Given the description of an element on the screen output the (x, y) to click on. 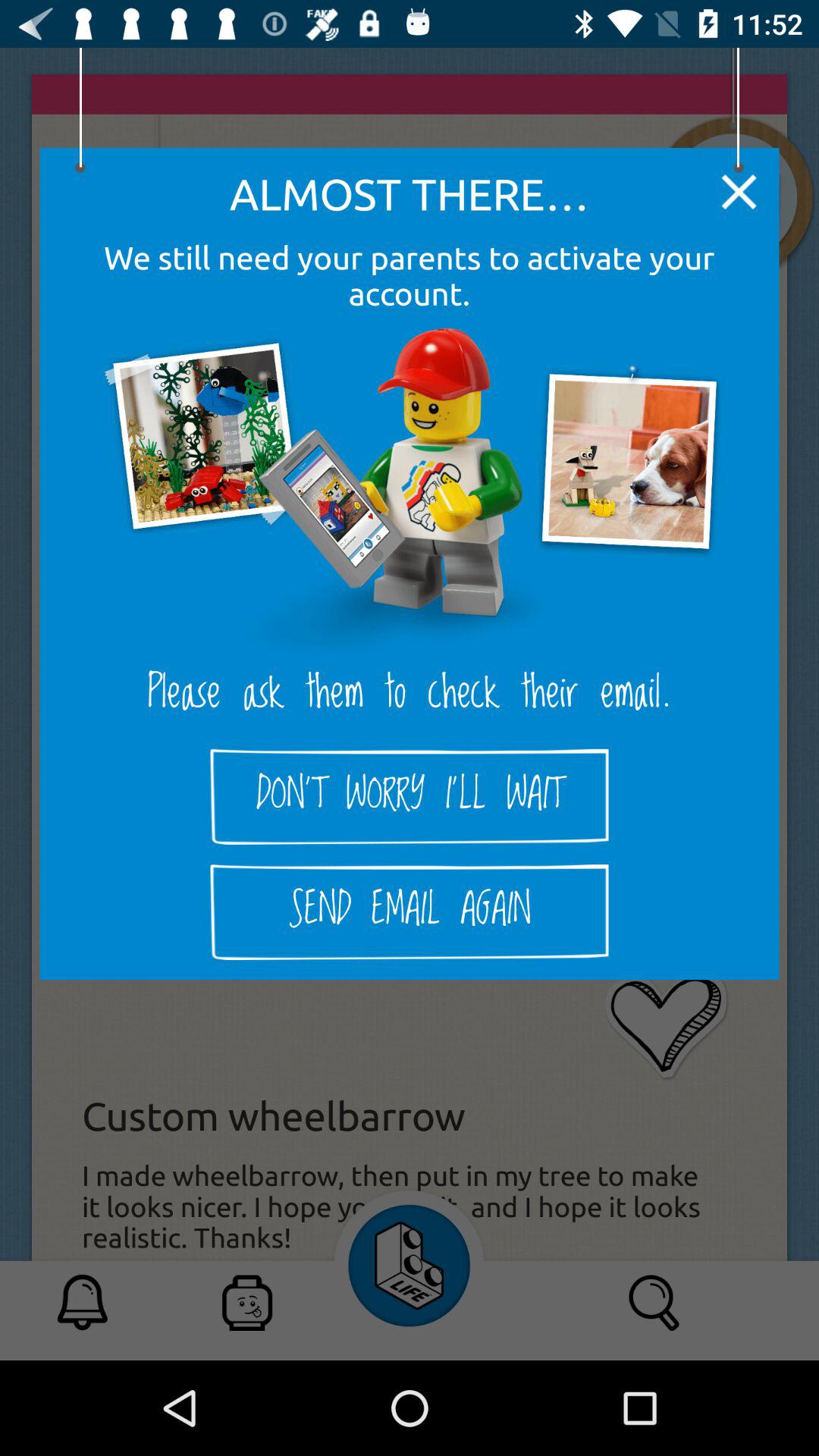
click the send email again item (409, 912)
